Given the description of an element on the screen output the (x, y) to click on. 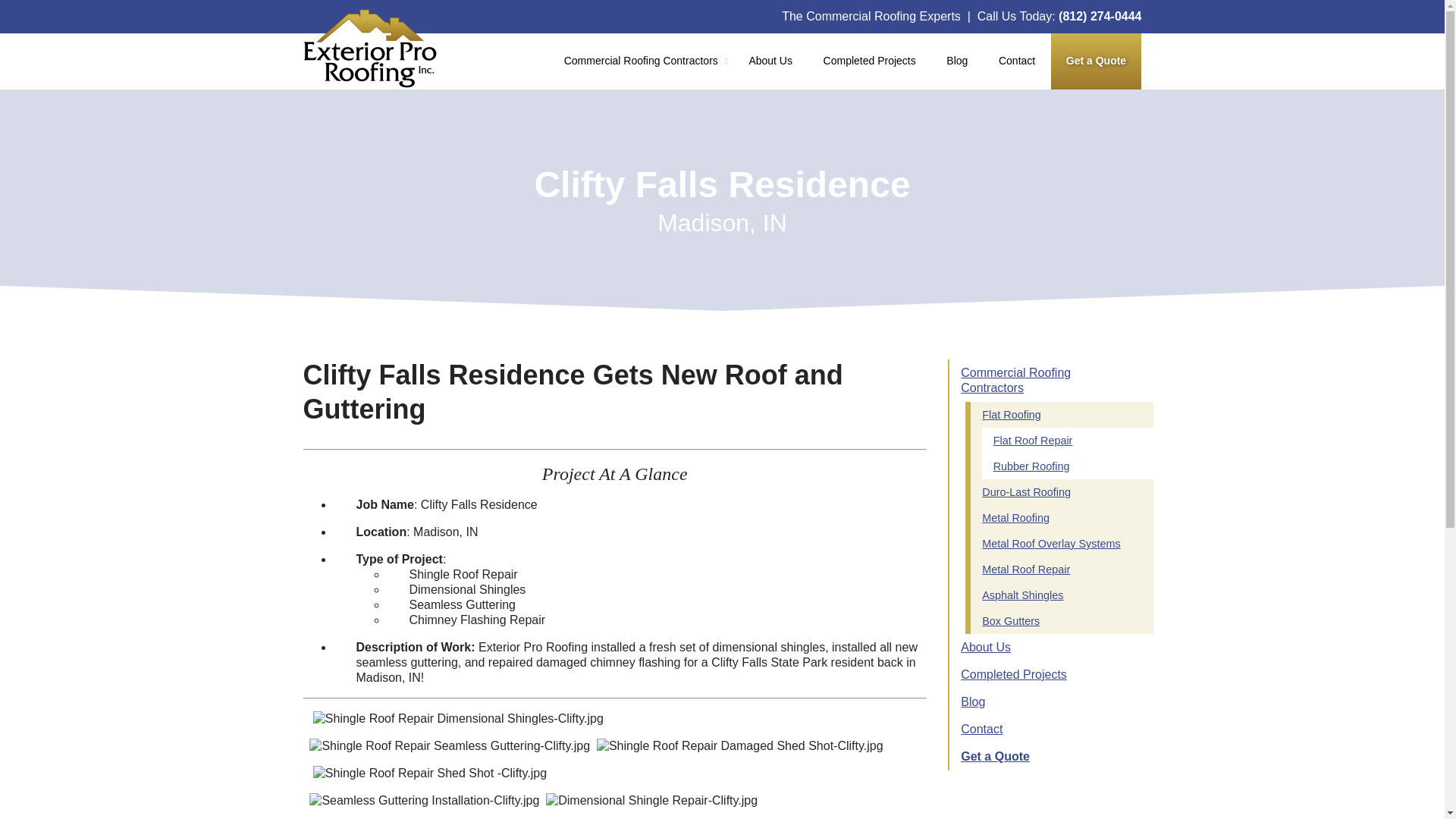
Dimensional Shingle Repair-Clifty.jpg (651, 800)
Blog (1045, 701)
Shingle Roof Repair Damaged Shed Shot-Clifty.jpg (739, 745)
Asphalt Shingles (1062, 595)
About Us (1045, 646)
Shingle Roof Repair Shed Shot -Clifty.jpg (430, 773)
Commercial Roofing Contractors (1045, 380)
Completed Projects (869, 61)
About Us (770, 61)
Shingle Roof Repair Seamless Guttering-Clifty.jpg (448, 745)
